Given the description of an element on the screen output the (x, y) to click on. 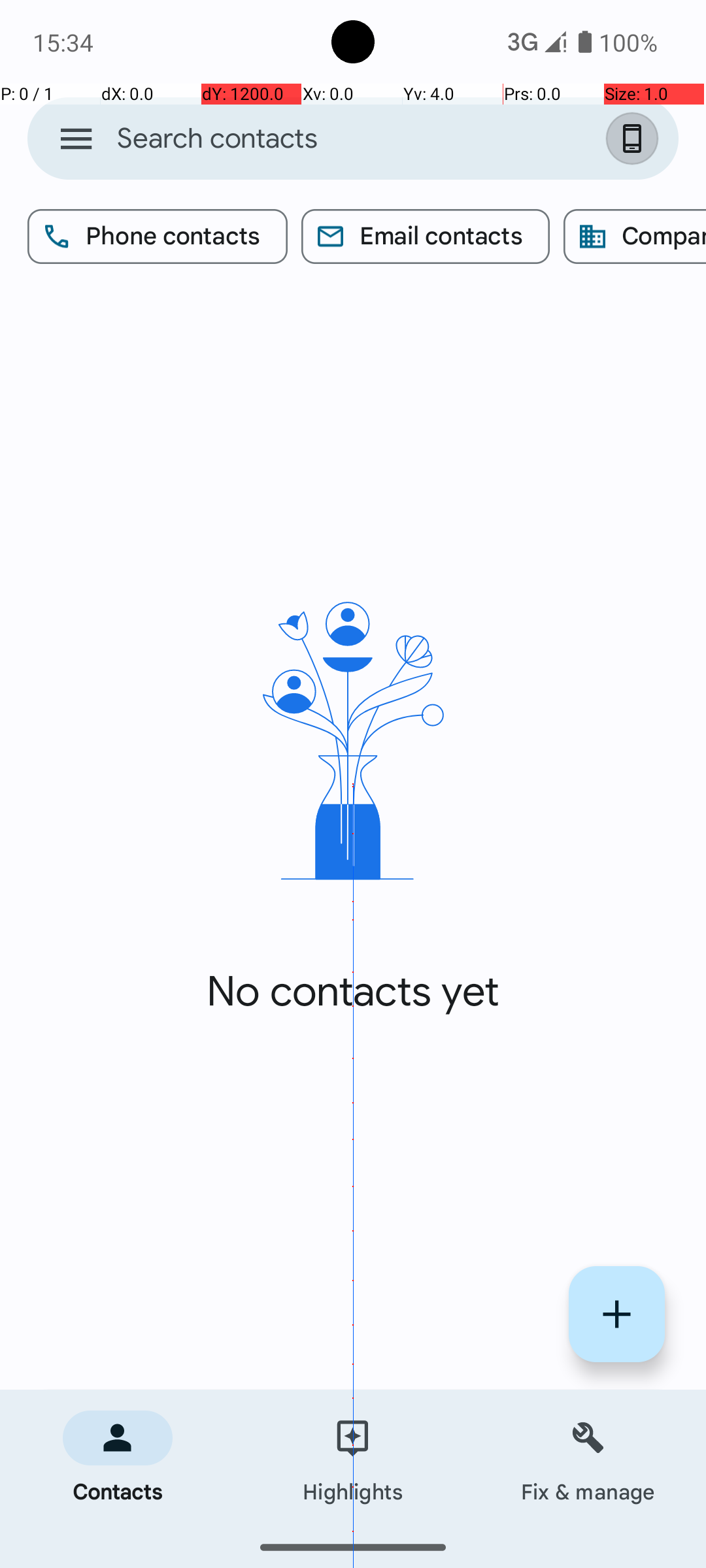
Contacts Element type: android.widget.FrameLayout (117, 1457)
Highlights Element type: android.widget.FrameLayout (352, 1457)
Fix & manage Element type: android.widget.FrameLayout (588, 1457)
Open navigation drawer Element type: android.widget.ImageButton (75, 138)
Signed in as Device
Account and settings. Element type: android.widget.FrameLayout (634, 138)
No contacts yet Element type: android.widget.TextView (353, 991)
Phone contacts Element type: android.widget.Button (157, 236)
Email contacts Element type: android.widget.Button (425, 236)
